Given the description of an element on the screen output the (x, y) to click on. 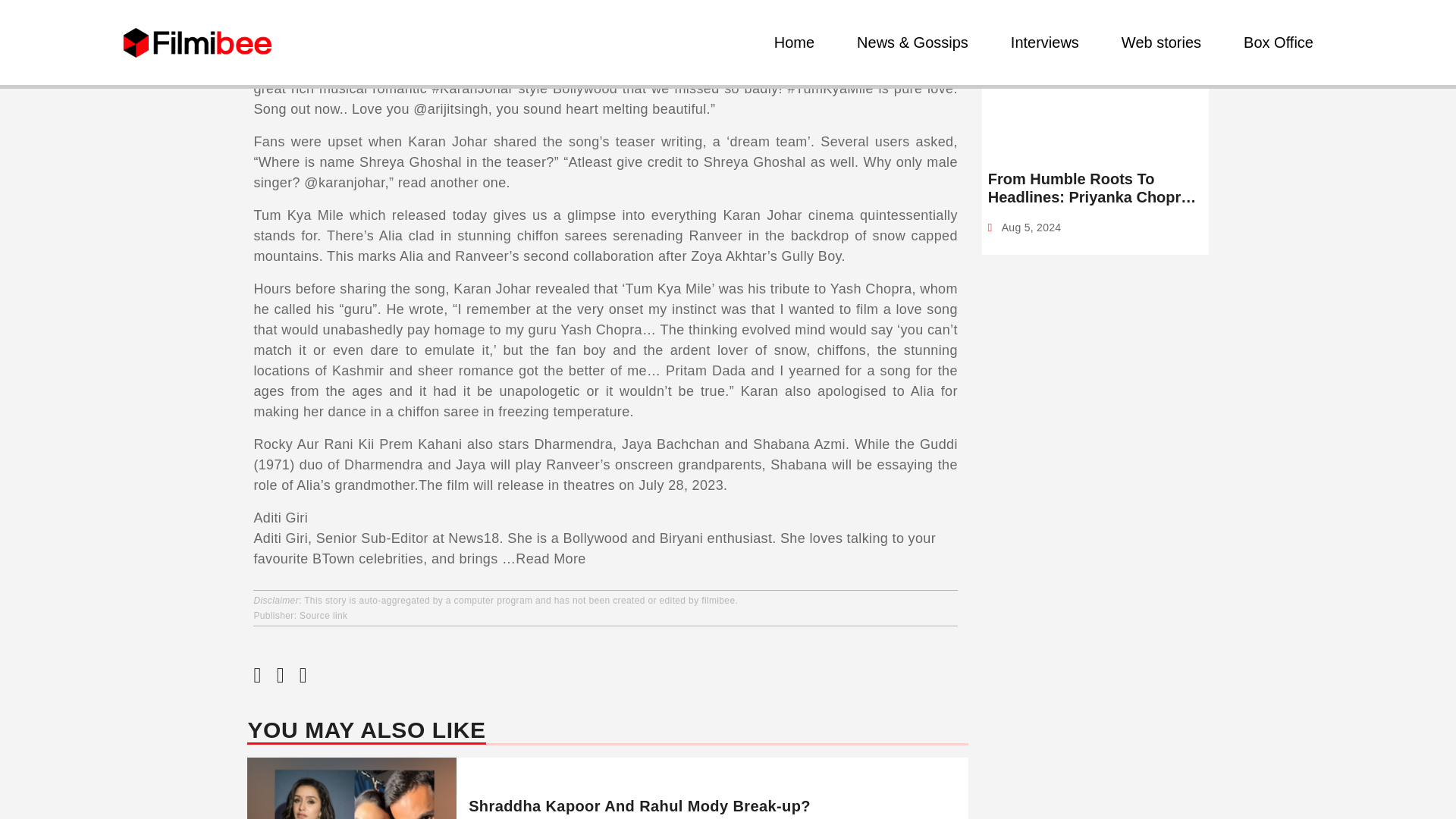
Shraddha Kapoor And Rahul Mody Break-up? (639, 805)
Source link (323, 615)
Shraddha Kapoor And Rahul Mody Break-up? (639, 805)
